Given the description of an element on the screen output the (x, y) to click on. 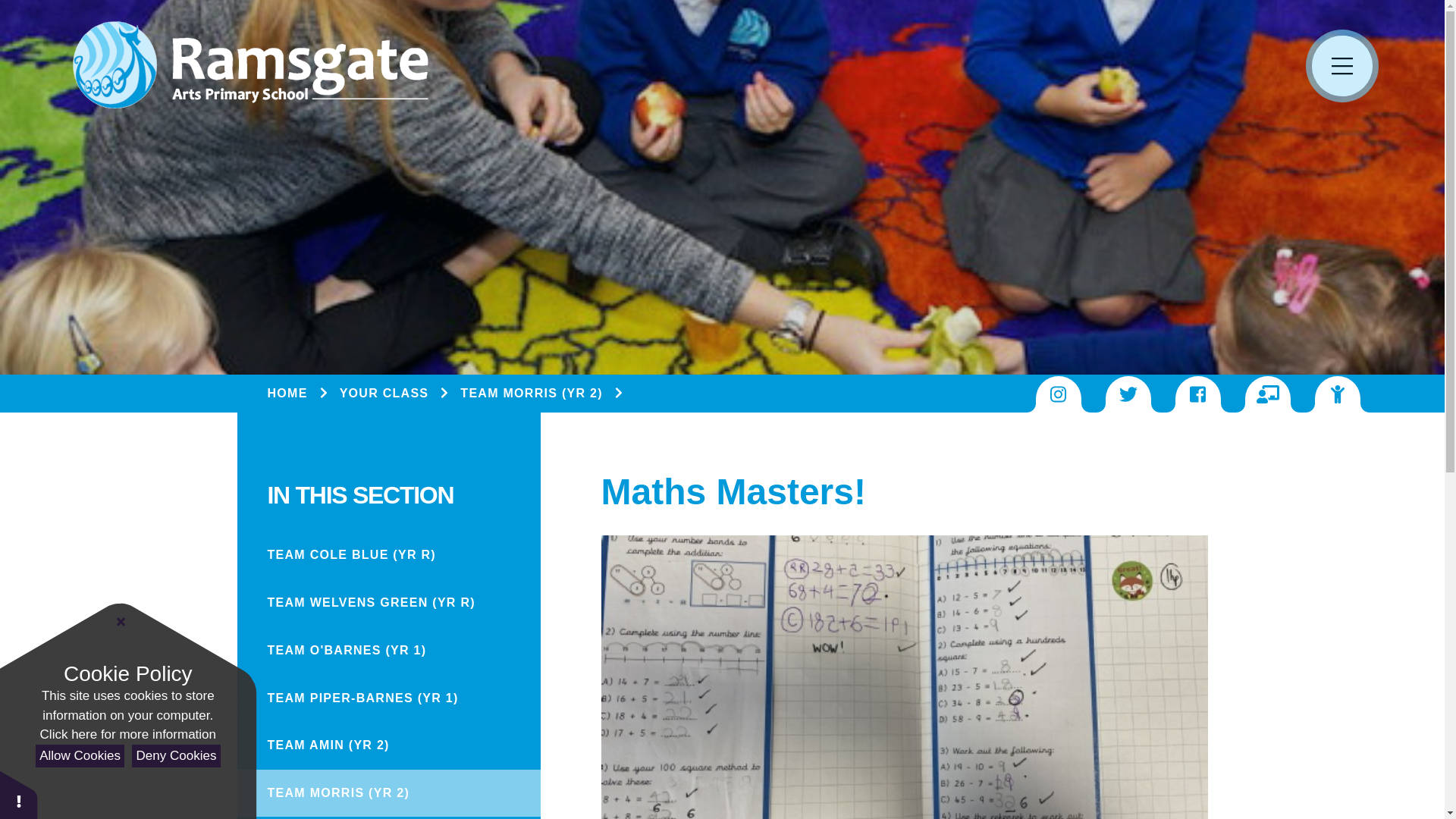
Deny Cookies (175, 756)
Allow Cookies (78, 756)
See cookie policy (127, 734)
